Given the description of an element on the screen output the (x, y) to click on. 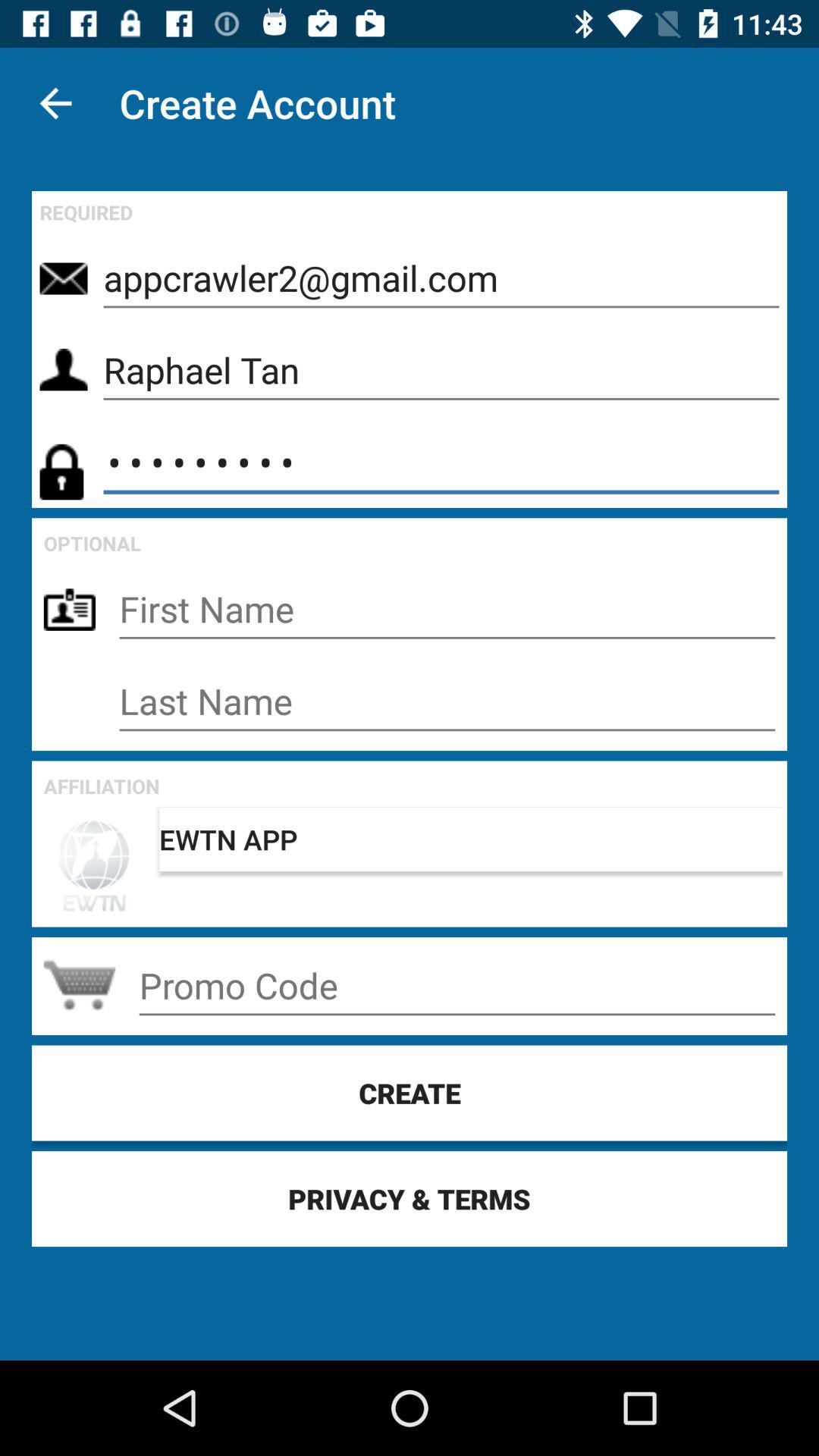
jump until privacy & terms item (409, 1198)
